Given the description of an element on the screen output the (x, y) to click on. 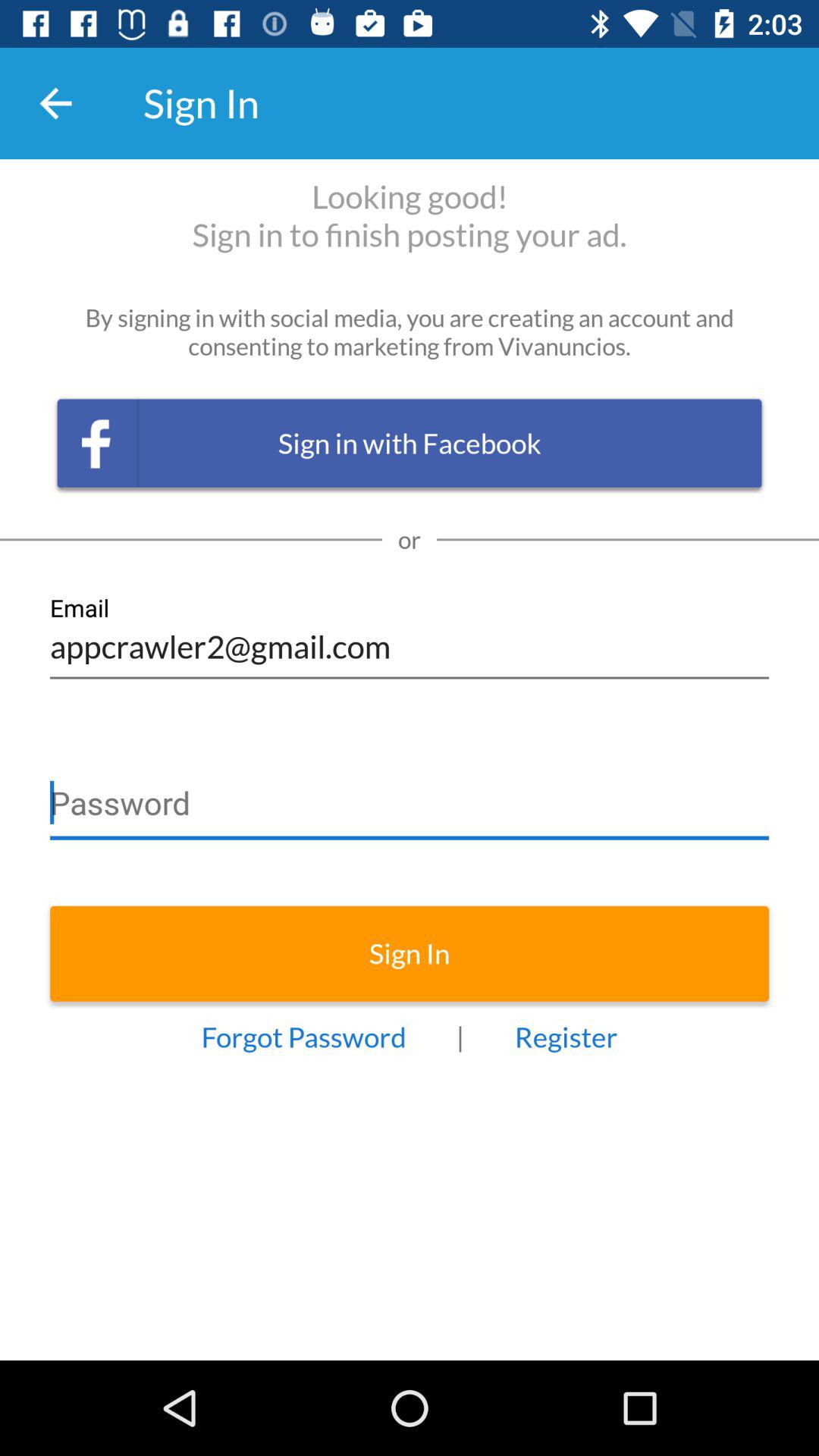
flip until forgot password icon (303, 1036)
